Given the description of an element on the screen output the (x, y) to click on. 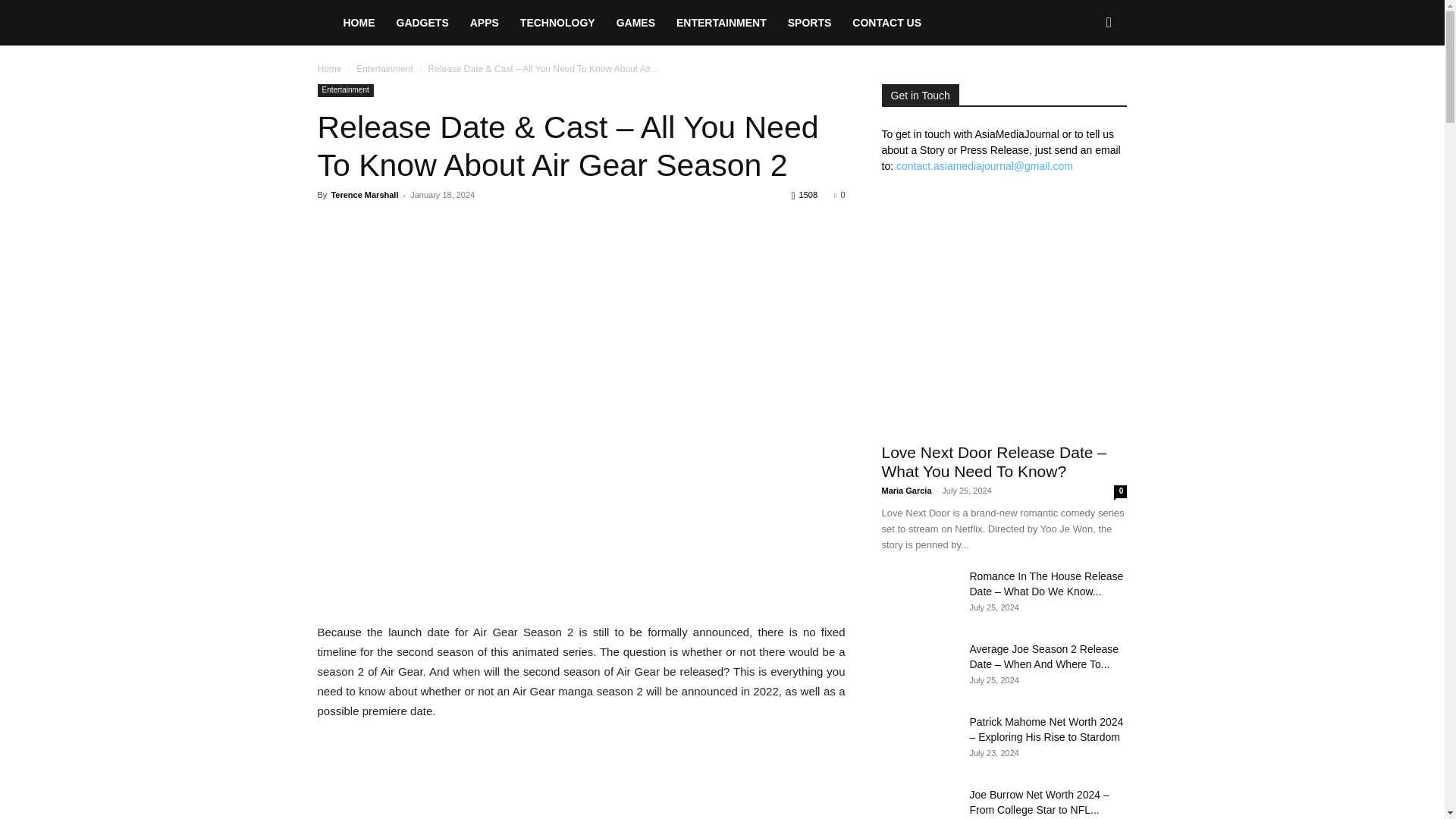
CONTACT US (886, 22)
SPORTS (810, 22)
Entertainment (344, 90)
Terence Marshall (363, 194)
View all posts in Entertainment (384, 68)
AMJ (324, 22)
ENTERTAINMENT (721, 22)
0 (839, 194)
GAMES (635, 22)
GADGETS (421, 22)
APPS (484, 22)
TECHNOLOGY (557, 22)
HOME (358, 22)
Entertainment (384, 68)
